Given the description of an element on the screen output the (x, y) to click on. 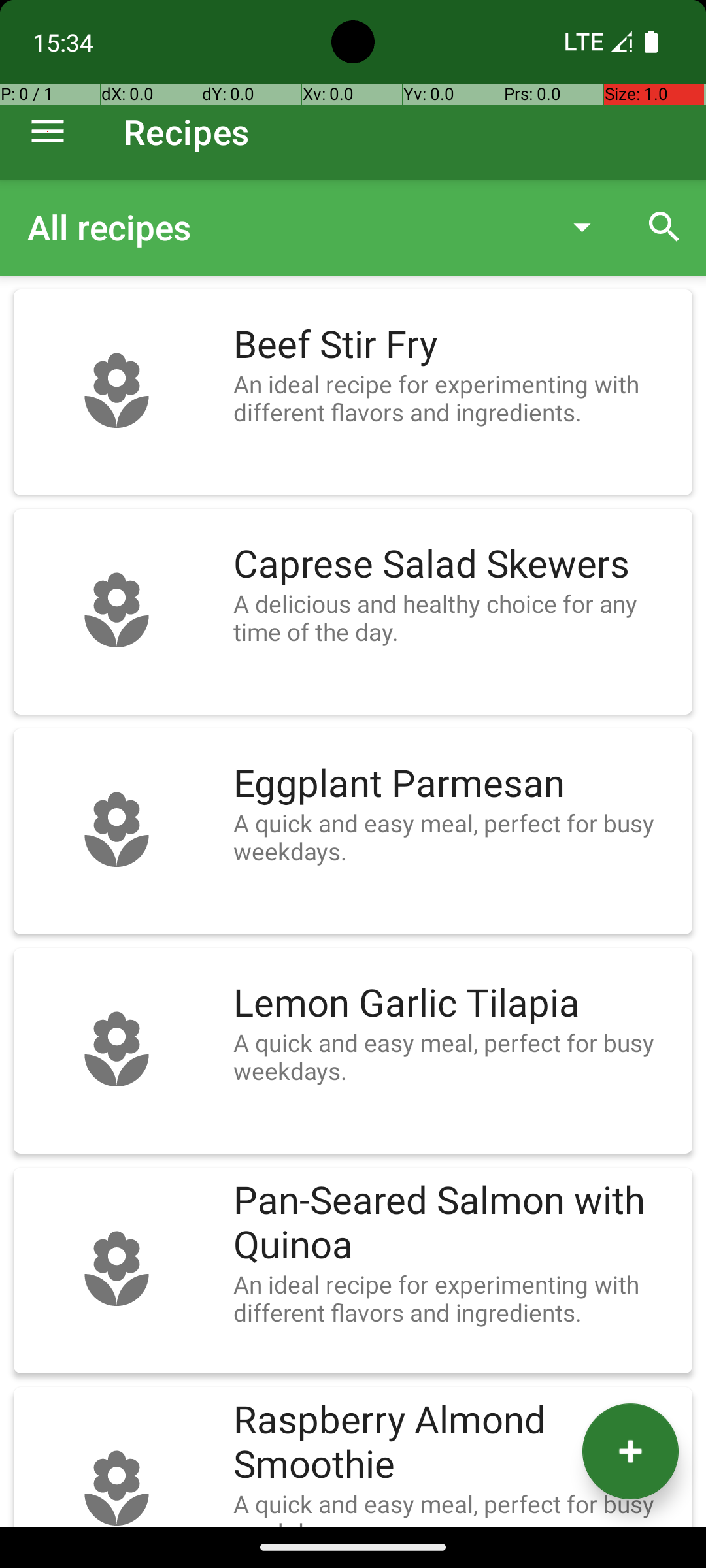
Eggplant Parmesan Element type: android.widget.TextView (455, 783)
Lemon Garlic Tilapia Element type: android.widget.TextView (455, 1003)
Pan-Seared Salmon with Quinoa Element type: android.widget.TextView (455, 1222)
Raspberry Almond Smoothie Element type: android.widget.TextView (455, 1442)
